Given the description of an element on the screen output the (x, y) to click on. 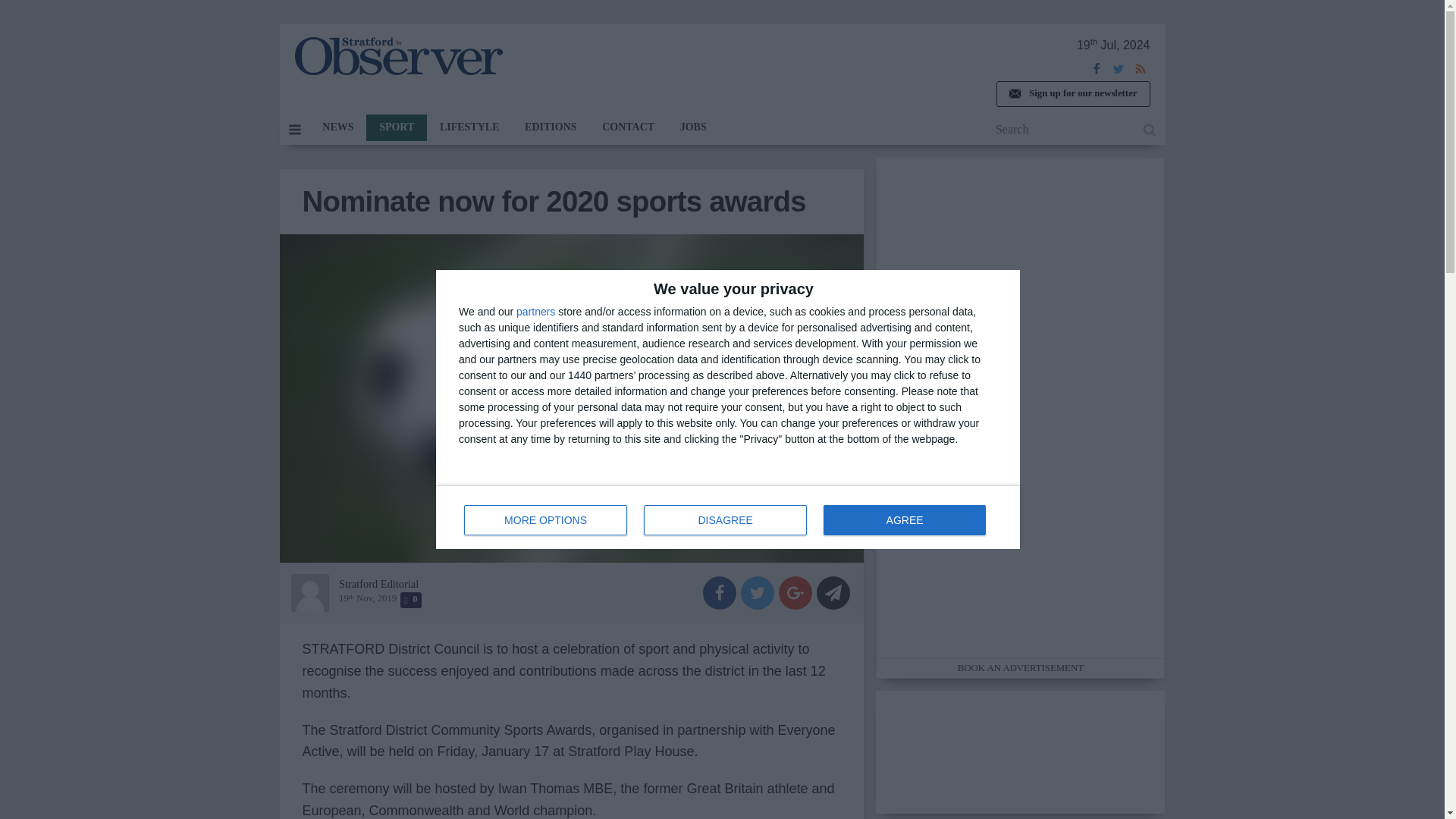
DISAGREE (724, 520)
partners (535, 311)
  Sign up for our newsletter (1072, 94)
AGREE (904, 520)
NEWS (337, 127)
LIFESTYLE (469, 127)
SPORT (396, 127)
The Stratford Observer (398, 55)
MORE OPTIONS (545, 520)
